Given the description of an element on the screen output the (x, y) to click on. 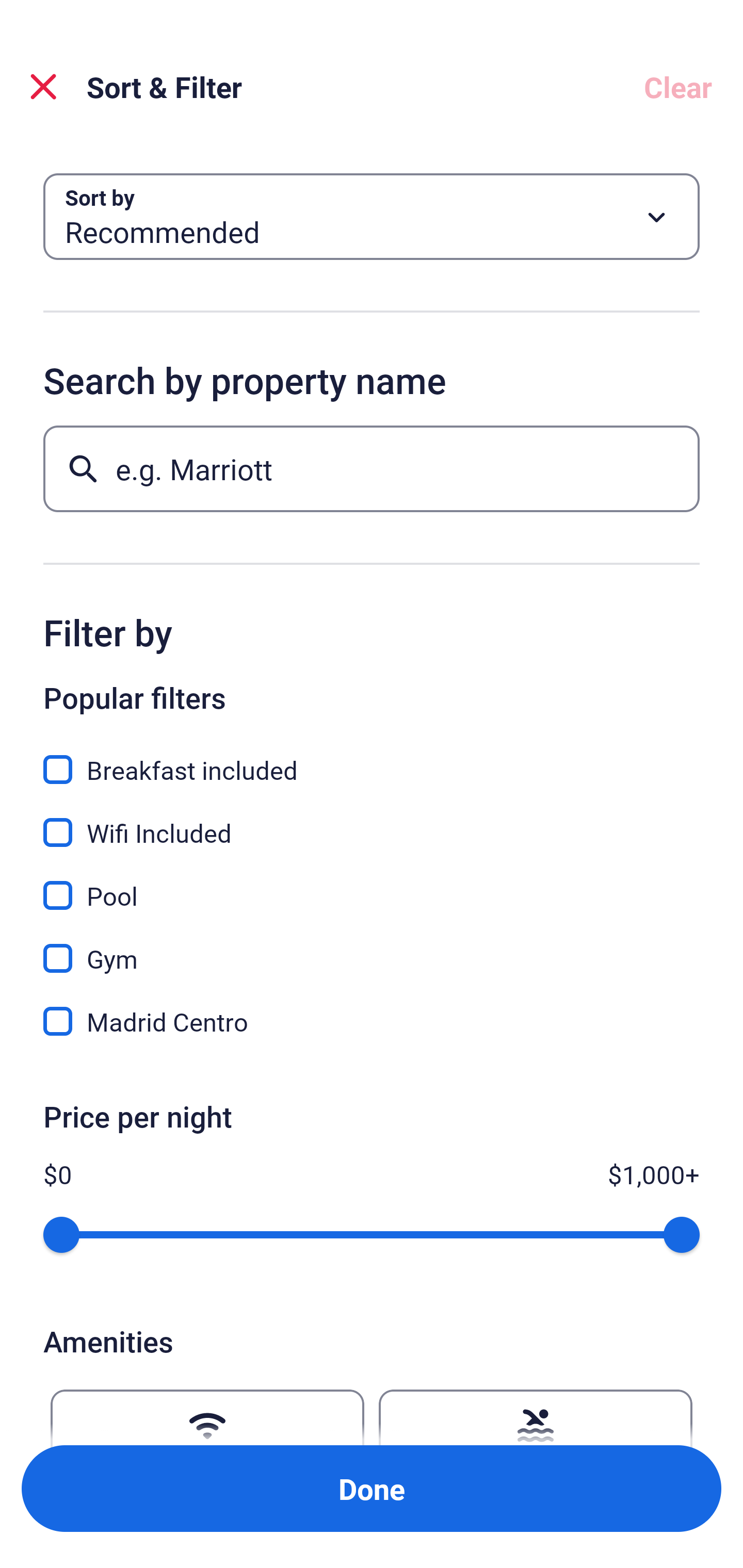
Close Sort and Filter (43, 86)
Clear (677, 86)
Sort by Button Recommended (371, 217)
e.g. Marriott Button (371, 468)
Breakfast included, Breakfast included (371, 757)
Wifi Included, Wifi Included (371, 821)
Pool, Pool (371, 883)
Gym, Gym (371, 946)
Madrid Centro, Madrid Centro (371, 1021)
Apply and close Sort and Filter Done (371, 1488)
